Given the description of an element on the screen output the (x, y) to click on. 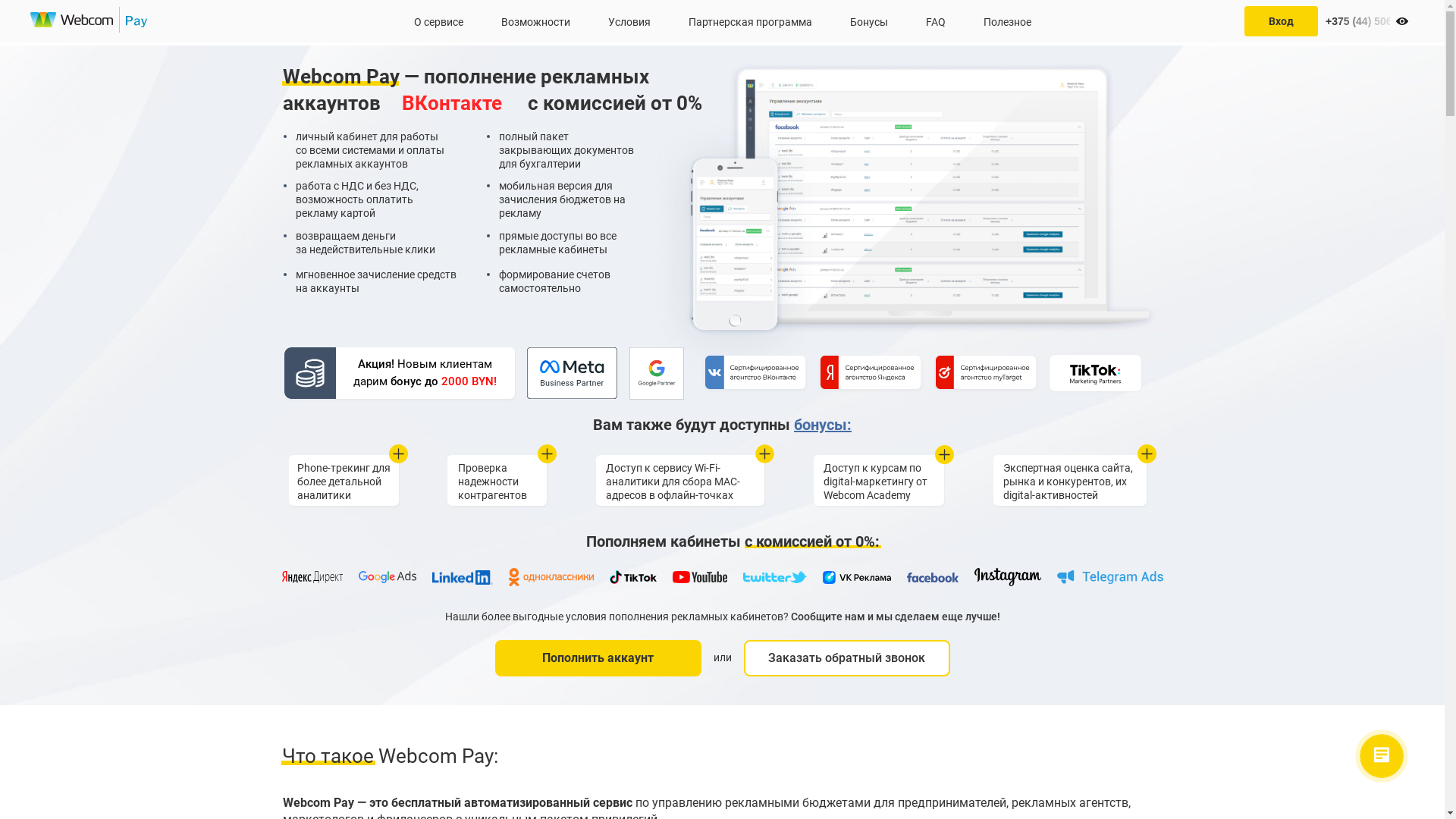
FAQ Element type: text (934, 21)
